Given the description of an element on the screen output the (x, y) to click on. 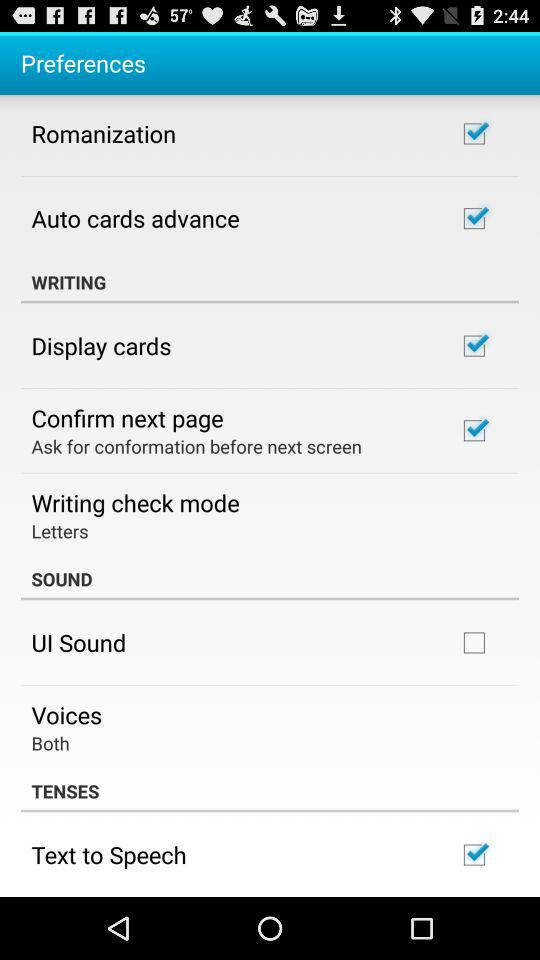
press the item above the both app (66, 714)
